Given the description of an element on the screen output the (x, y) to click on. 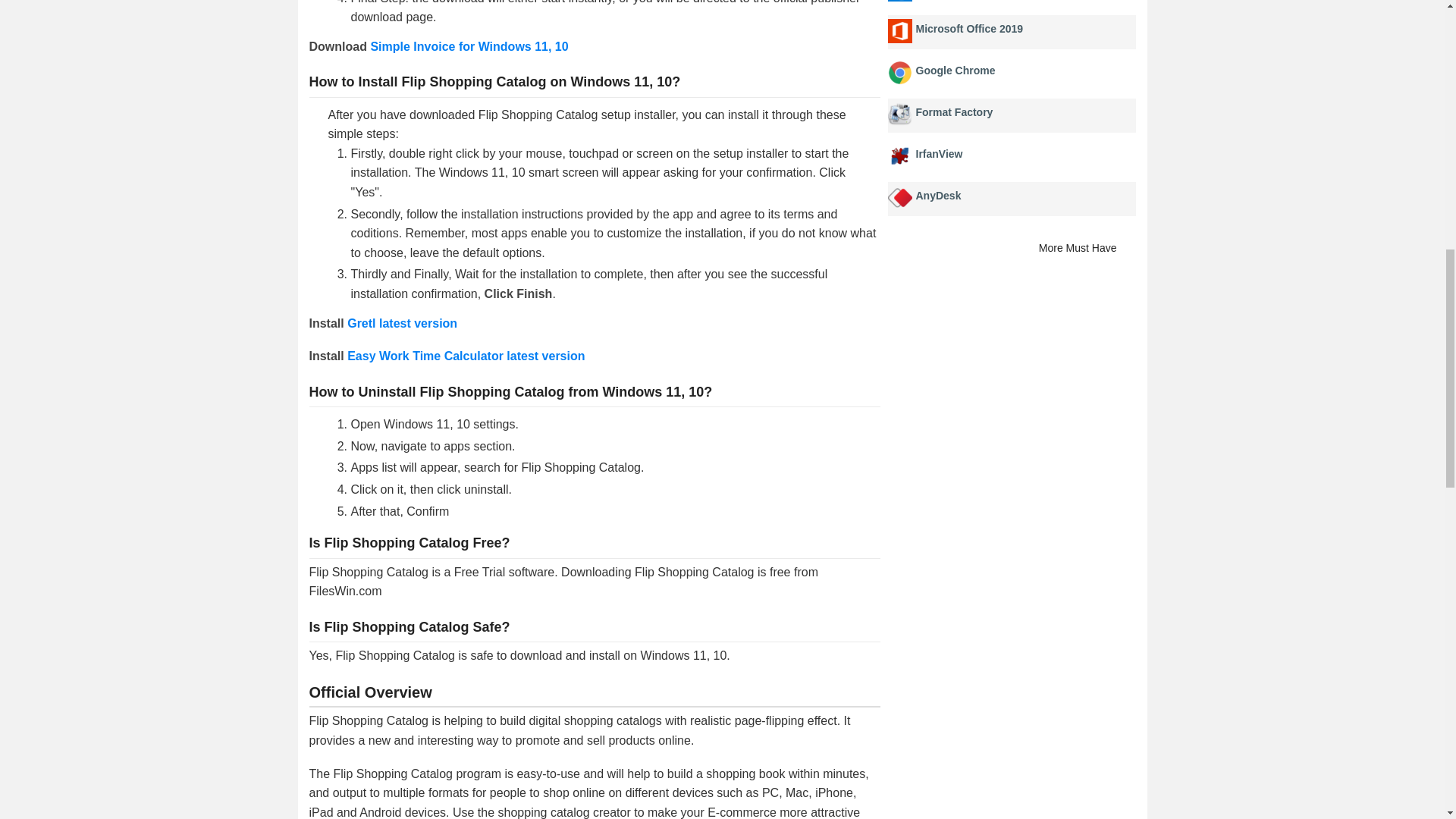
Google Chrome (955, 70)
Simple Invoice for Windows 11, 10 (468, 46)
Gretl latest version (402, 323)
Easy Work Time Calculator latest version (466, 355)
More Must Have (1087, 248)
Install Gretl latest version (402, 323)
Install Easy Work Time Calculator latest version (466, 355)
Download Simple Invoice for Windows 11, 10 (468, 46)
Format Factory (953, 111)
Microsoft Office 2019 (969, 28)
IrfanView (938, 153)
AnyDesk (937, 195)
